Given the description of an element on the screen output the (x, y) to click on. 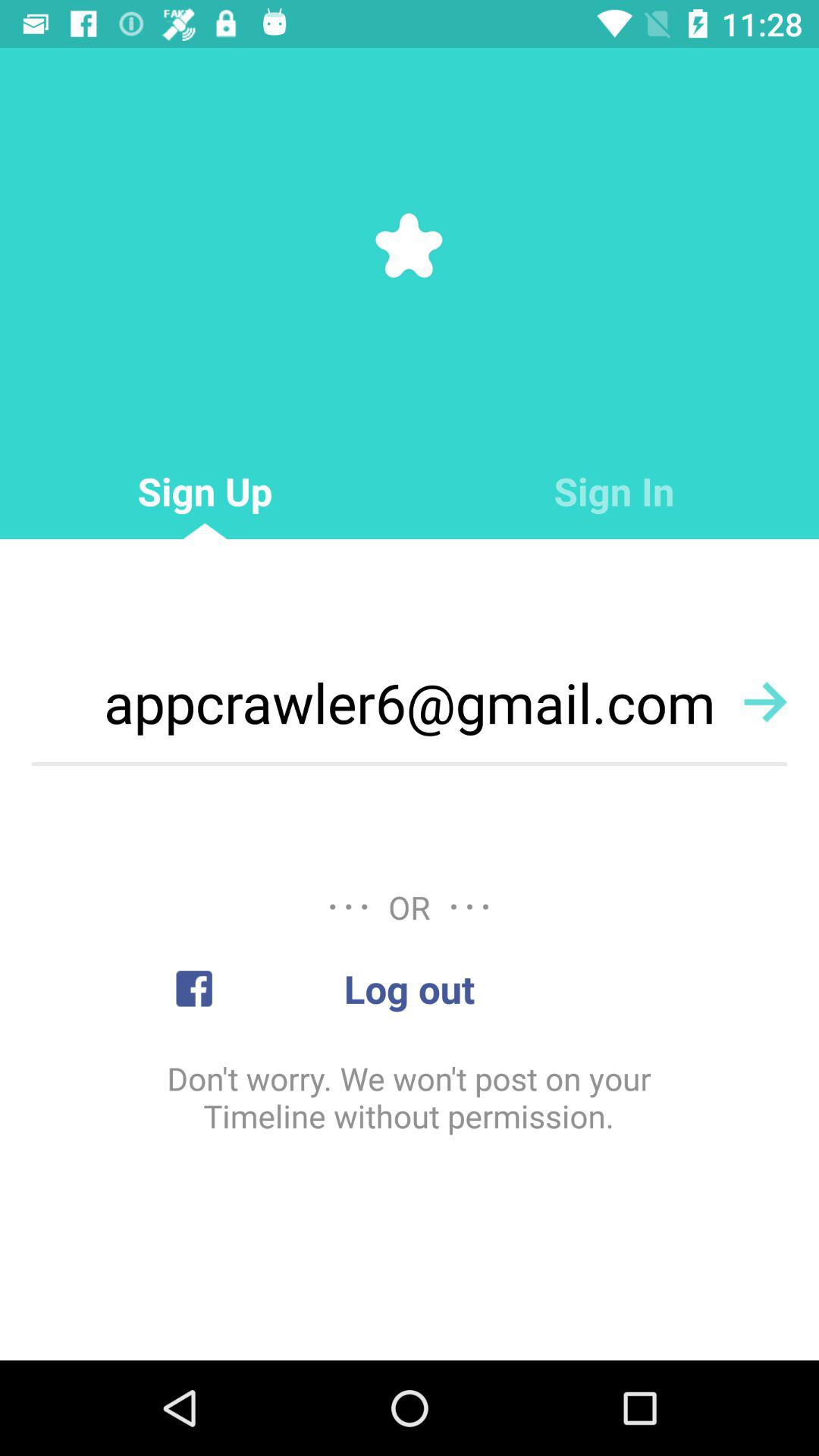
click sign in (614, 491)
